Given the description of an element on the screen output the (x, y) to click on. 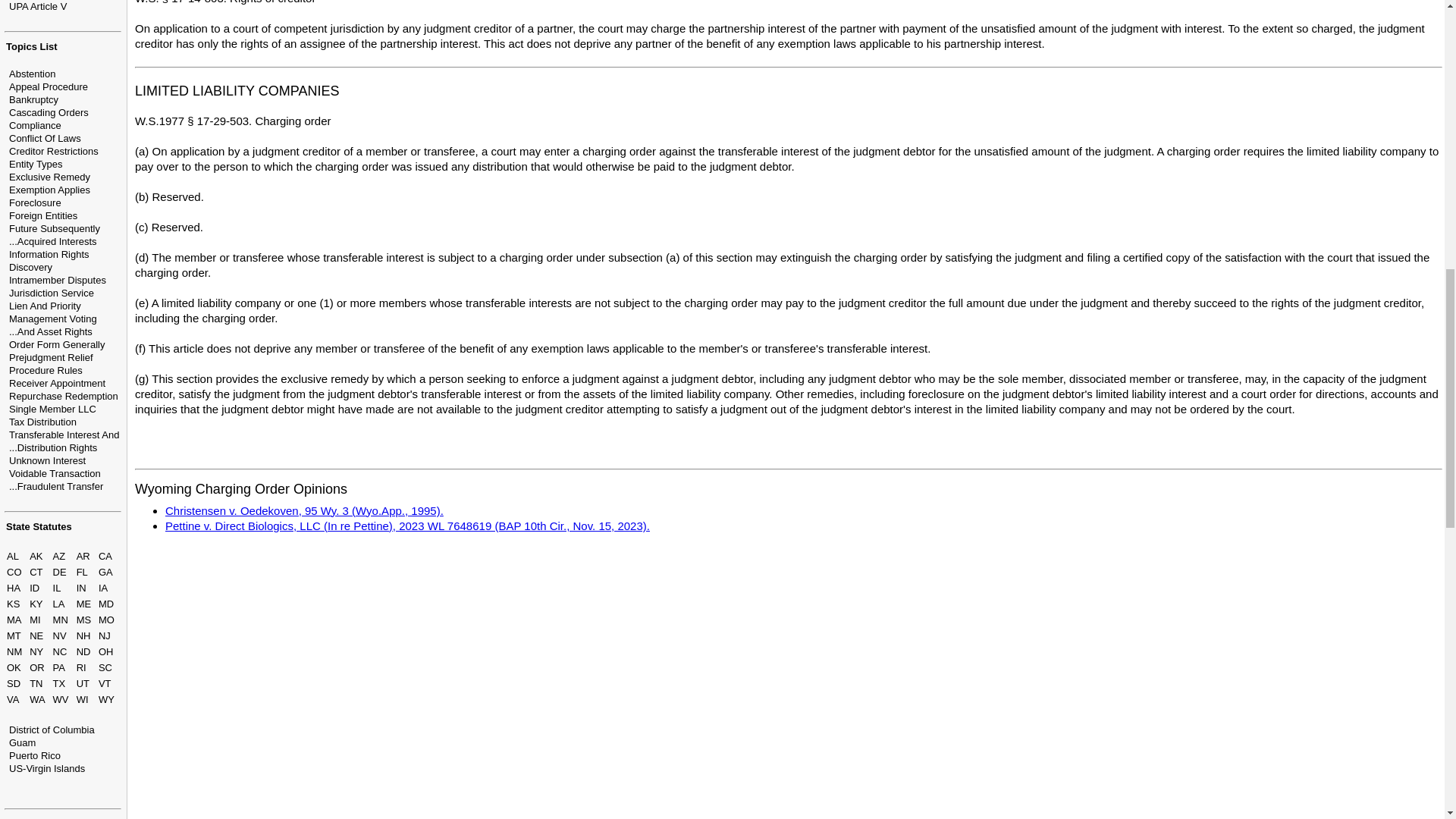
Cascading Orders (48, 112)
Future Subsequently ...Acquired Interests (54, 234)
Entity Types (35, 163)
Compliance (34, 125)
Creditor Restrictions (53, 151)
Intramember Disputes (57, 279)
Foreign Entities (42, 215)
Topics List (31, 46)
Jurisdiction Service (51, 292)
Abstention (31, 73)
